Given the description of an element on the screen output the (x, y) to click on. 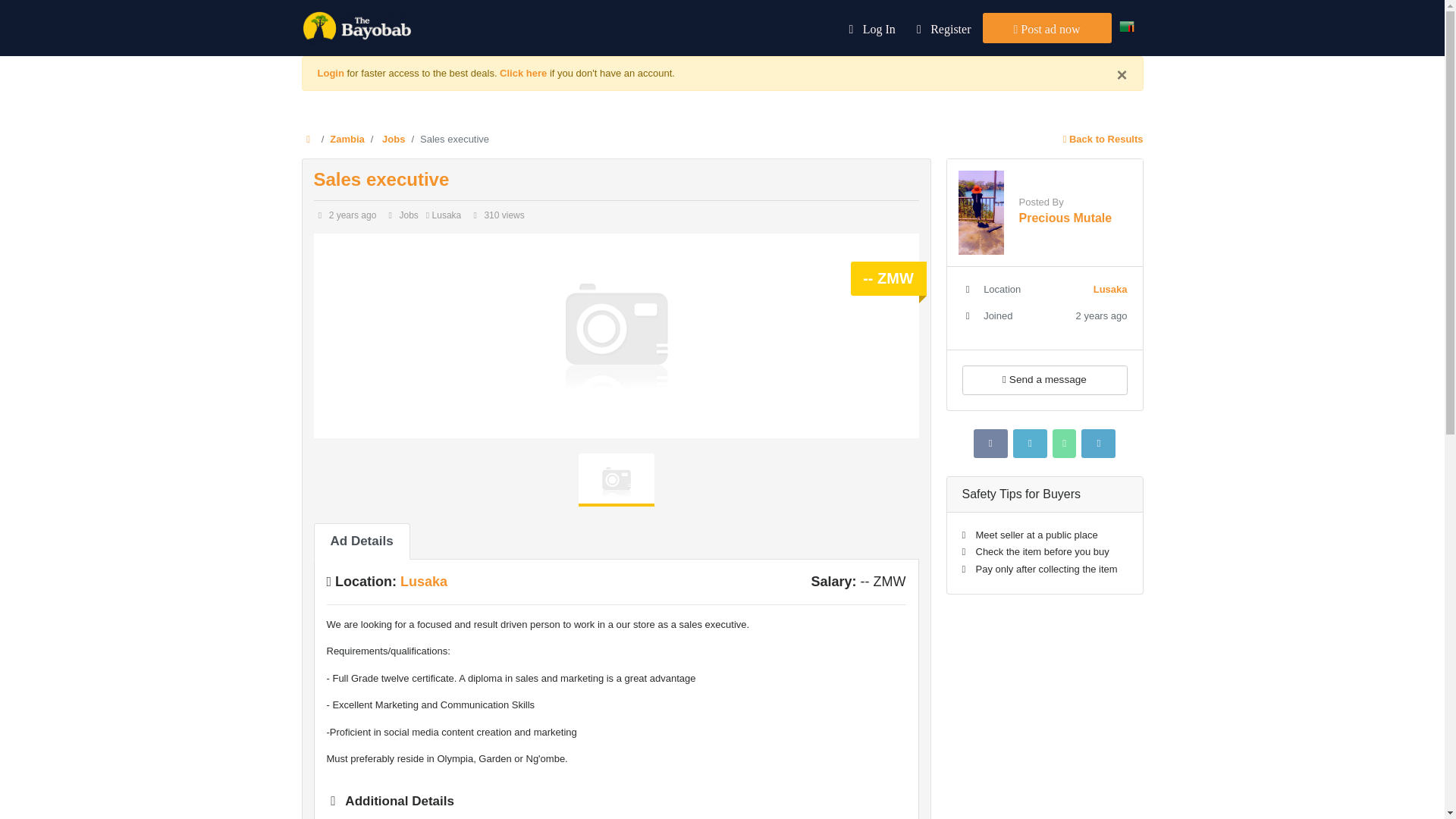
Post ad now (1047, 28)
Register (940, 28)
Login (330, 72)
Zambia (347, 138)
Lusaka (423, 580)
Back to Results (1102, 138)
Lusaka (1109, 288)
Ad Details (362, 541)
Jobs (392, 138)
Sales executive (381, 178)
Send a message (1043, 379)
Log In (868, 28)
Precious Mutale (1065, 217)
Sales executive (381, 178)
Click here (523, 72)
